Given the description of an element on the screen output the (x, y) to click on. 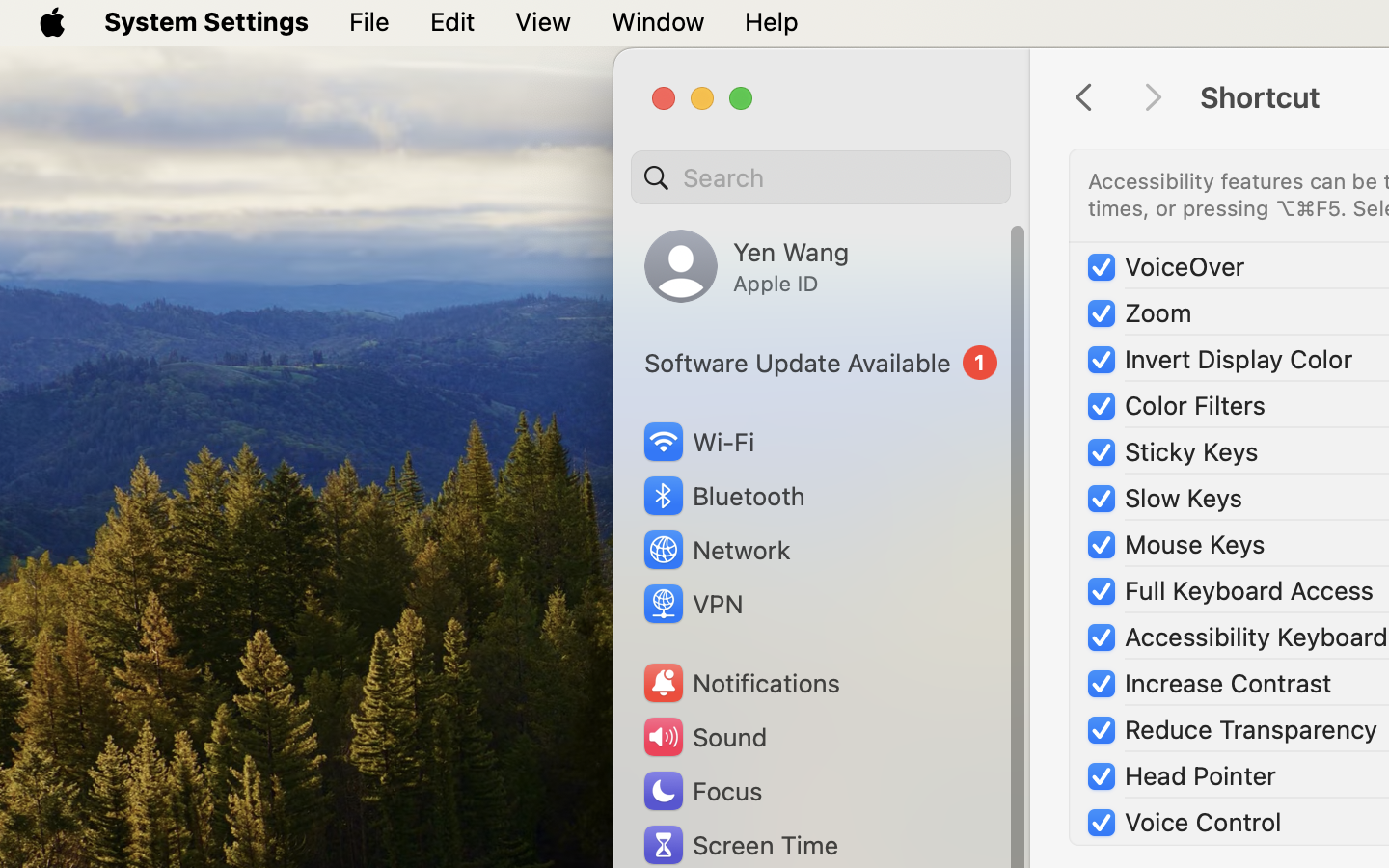
Network Element type: AXStaticText (715, 549)
Screen Time Element type: AXStaticText (739, 844)
Focus Element type: AXStaticText (701, 790)
Yen Wang, Apple ID Element type: AXStaticText (746, 265)
VPN Element type: AXStaticText (691, 603)
